Given the description of an element on the screen output the (x, y) to click on. 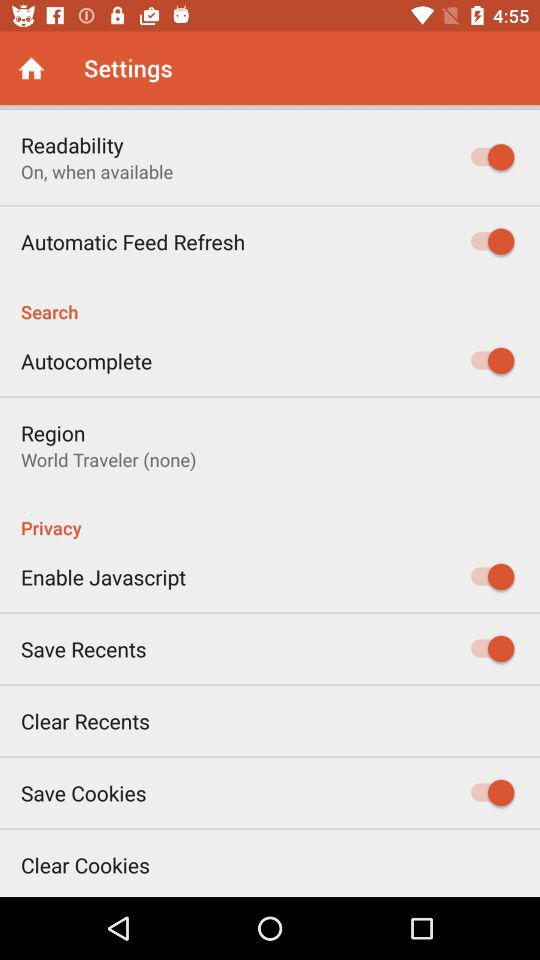
launch the item above the clear cookies (83, 792)
